Given the description of an element on the screen output the (x, y) to click on. 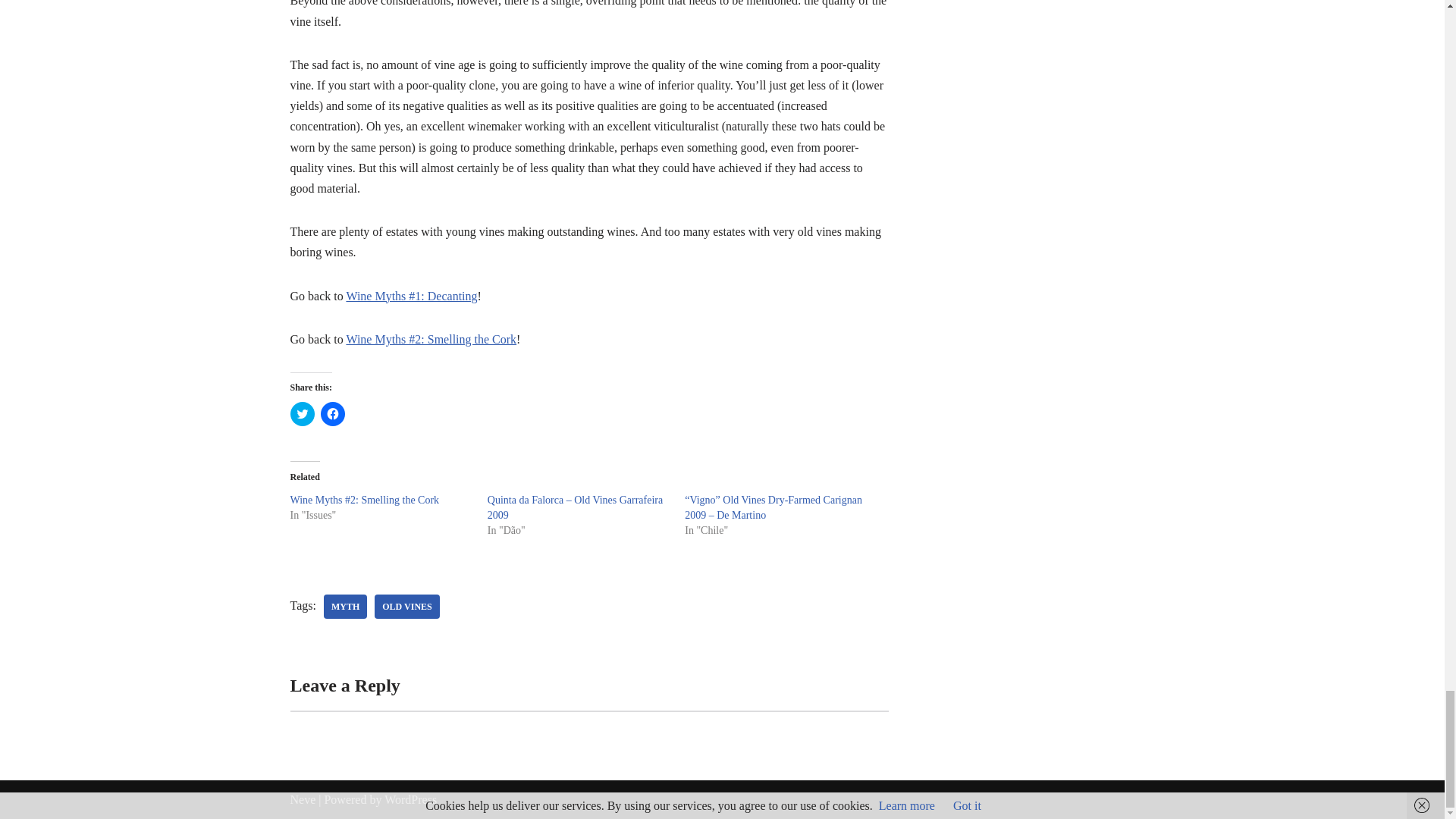
OLD VINES (406, 606)
Click to share on Facebook (331, 413)
MYTH (344, 606)
Click to share on Twitter (301, 413)
